Given the description of an element on the screen output the (x, y) to click on. 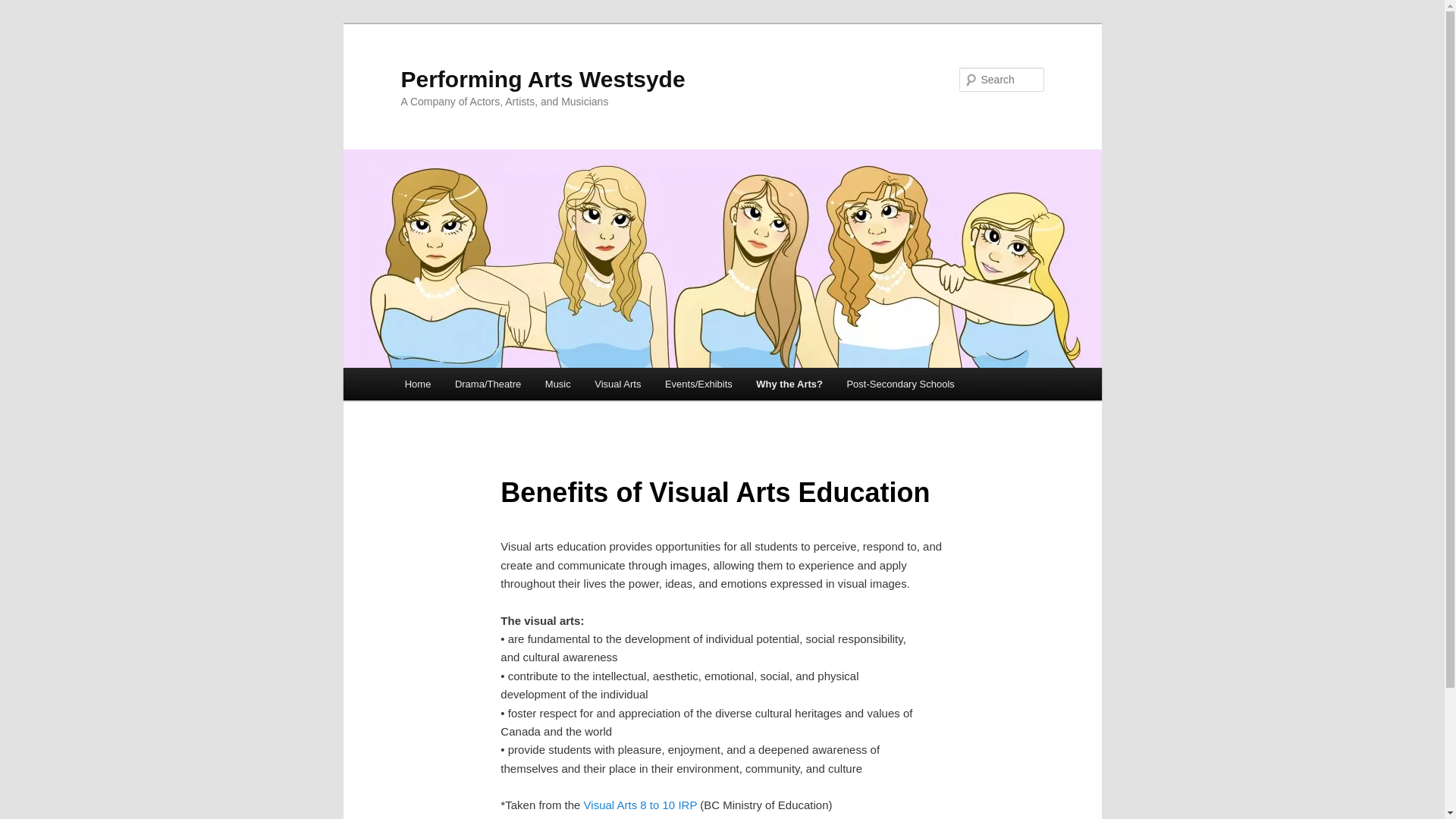
Performing Arts Westsyde Element type: text (542, 78)
Visual Arts Element type: text (617, 383)
Drama/Theatre Element type: text (487, 383)
Visual Arts 8 to 10 IRP Element type: text (640, 804)
Home Element type: text (417, 383)
Skip to primary content Element type: text (22, 22)
Search Element type: text (24, 8)
Why the Arts? Element type: text (789, 383)
Music Element type: text (557, 383)
Events/Exhibits Element type: text (697, 383)
Post-Secondary Schools Element type: text (900, 383)
